Given the description of an element on the screen output the (x, y) to click on. 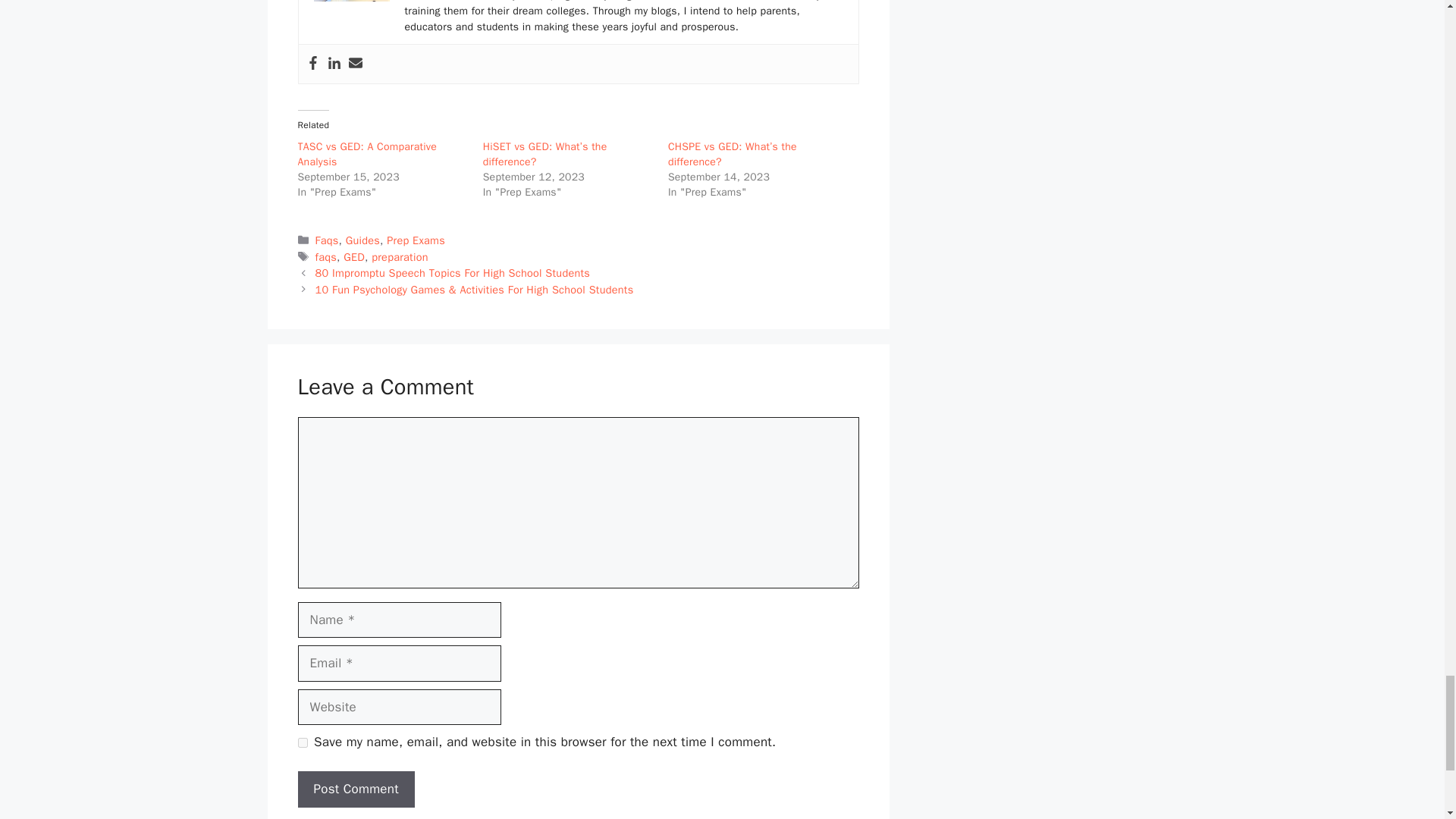
Prep Exams (416, 240)
Faqs (327, 240)
yes (302, 742)
TASC vs GED: A Comparative Analysis (366, 154)
TASC vs GED: A Comparative Analysis (366, 154)
Guides (363, 240)
faqs (325, 256)
80 Impromptu Speech Topics For High School Students (453, 273)
GED (354, 256)
preparation (399, 256)
Post Comment (355, 789)
